Given the description of an element on the screen output the (x, y) to click on. 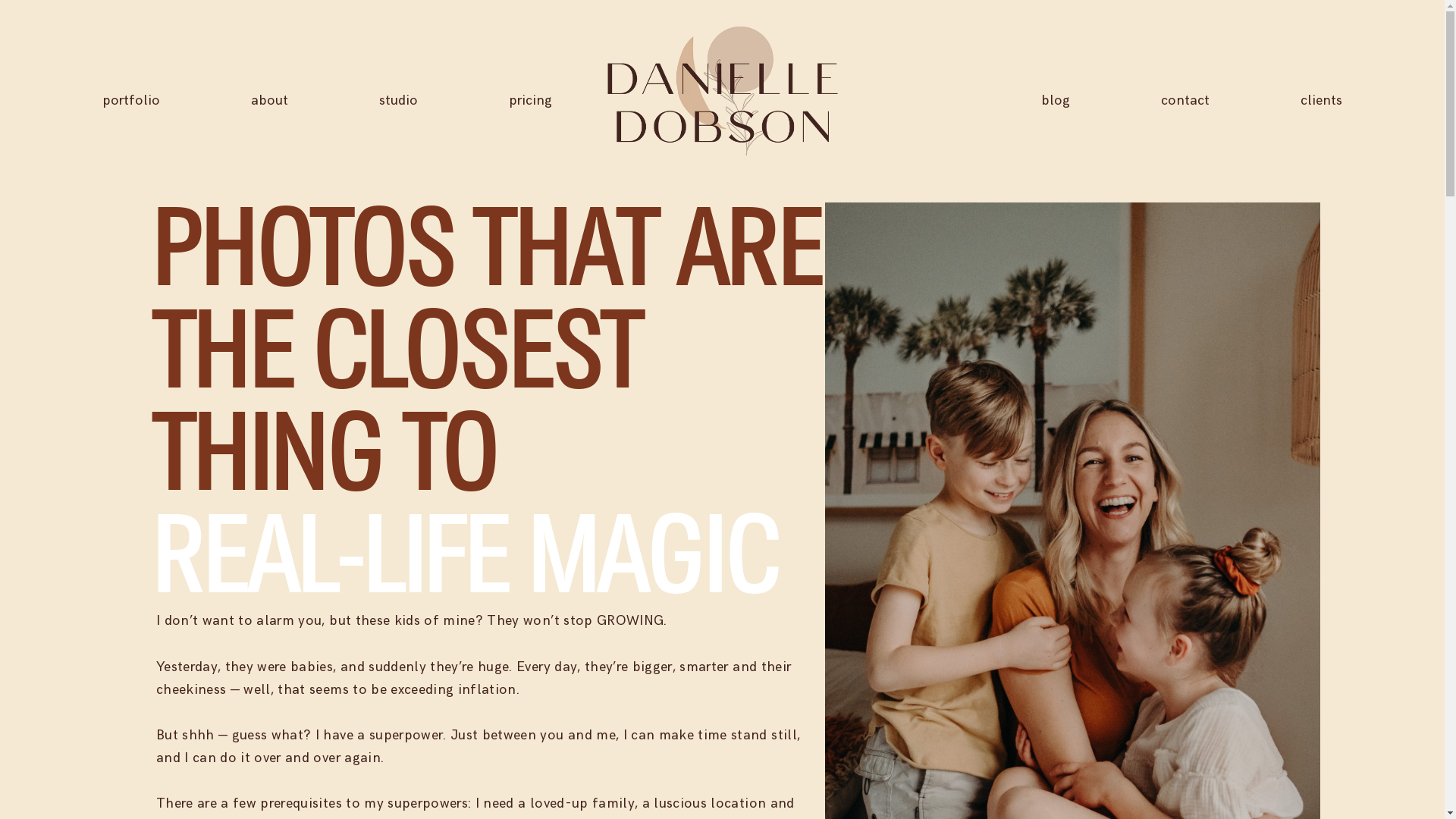
clients Element type: text (1321, 100)
blog Element type: text (1055, 100)
about Element type: text (269, 100)
studio Element type: text (398, 100)
portfolio Element type: text (131, 100)
pricing Element type: text (530, 100)
contact Element type: text (1185, 100)
